Given the description of an element on the screen output the (x, y) to click on. 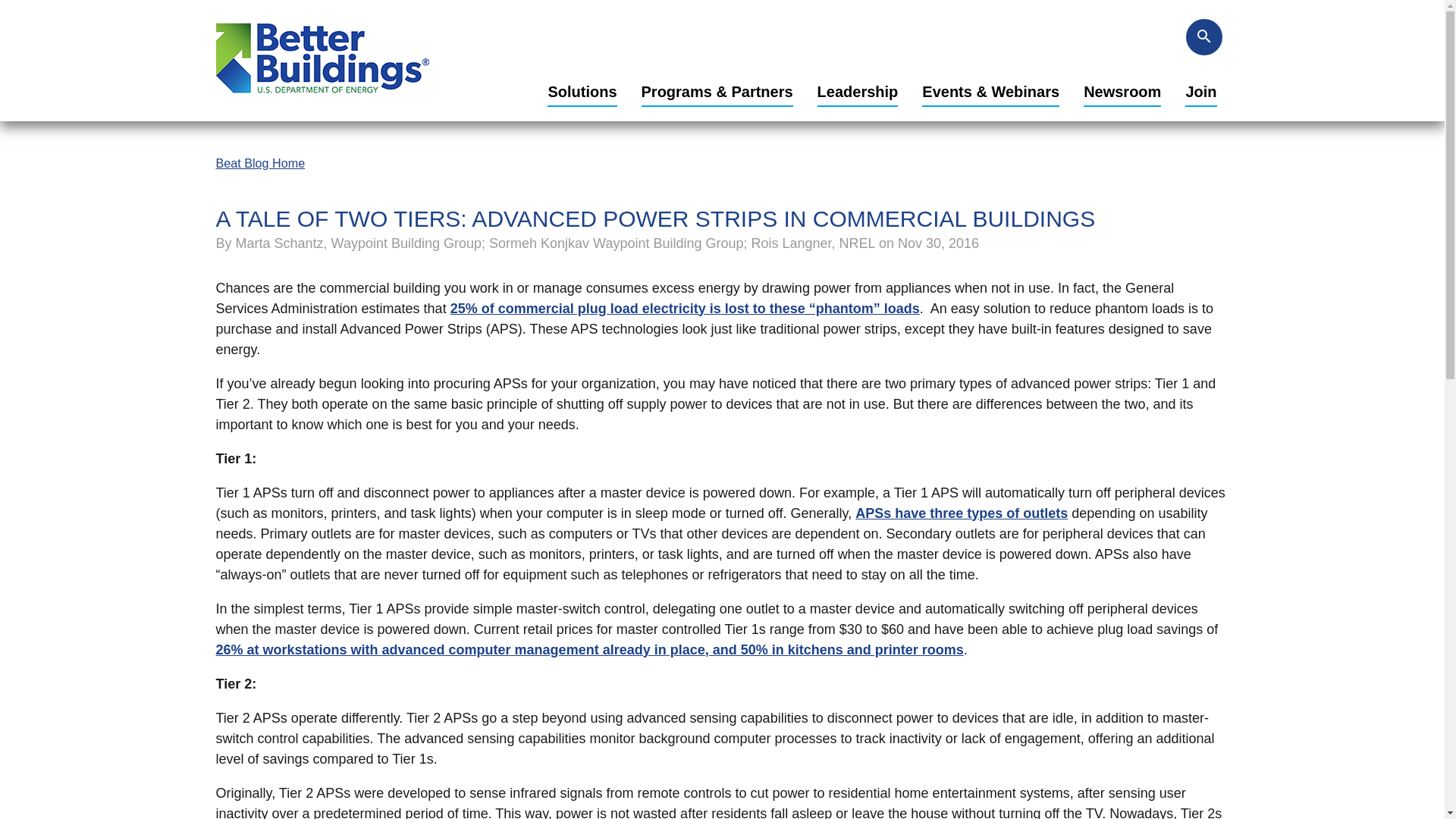
APSs have three types of outlets (961, 512)
Home (321, 98)
Solutions (581, 92)
Leadership (857, 92)
Newsroom (1121, 92)
Beat Blog Home (259, 162)
Join (1200, 92)
